Given the description of an element on the screen output the (x, y) to click on. 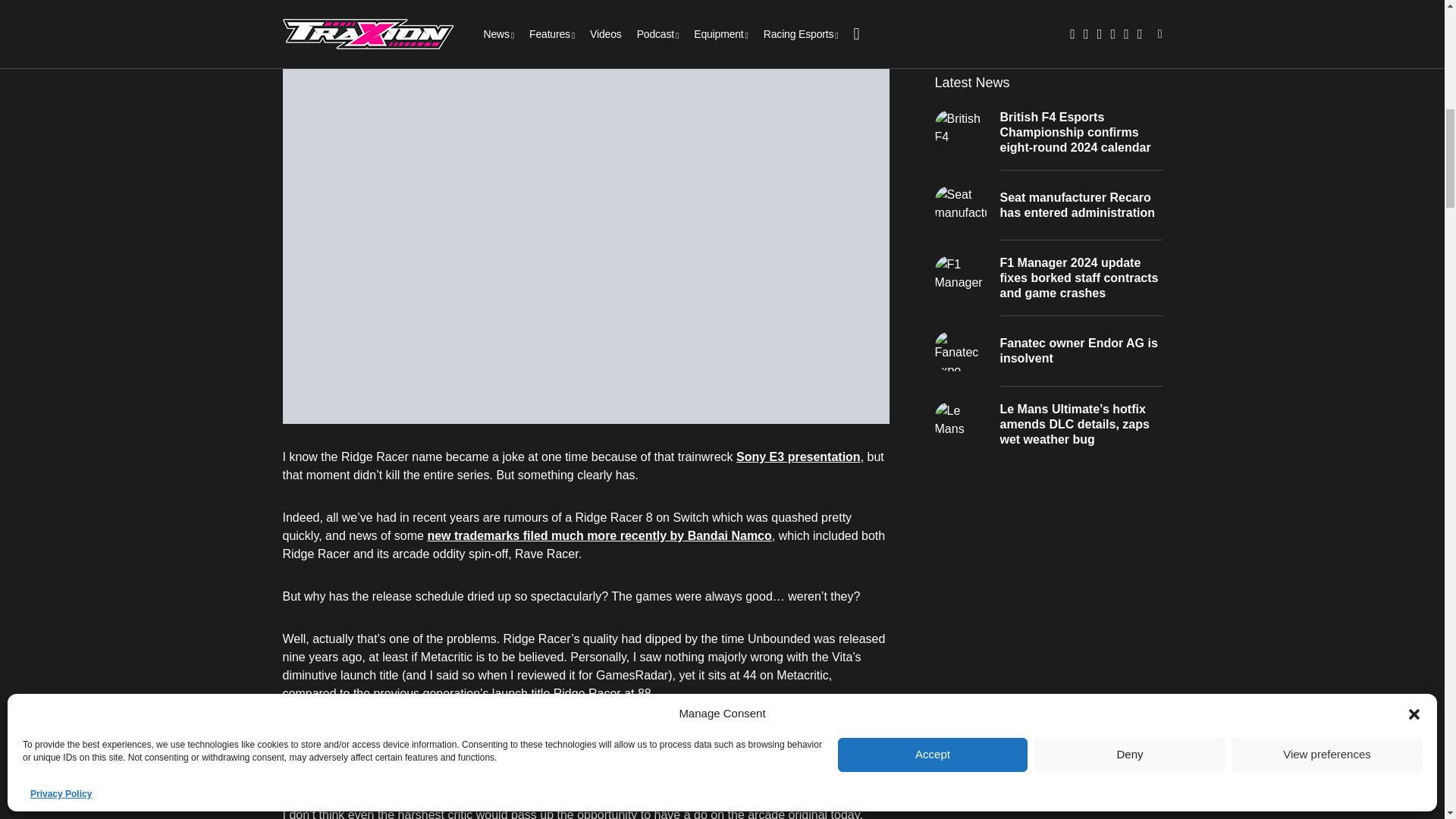
View preferences (1326, 344)
Deny (1129, 344)
Privacy Policy (60, 383)
Accept (932, 344)
